Given the description of an element on the screen output the (x, y) to click on. 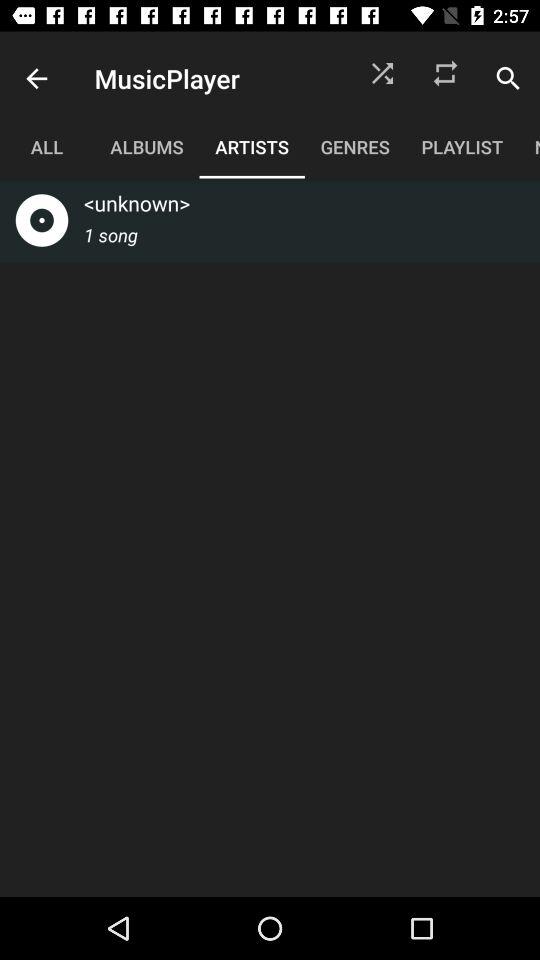
tap the icon to the left of musicplayer item (36, 78)
